Given the description of an element on the screen output the (x, y) to click on. 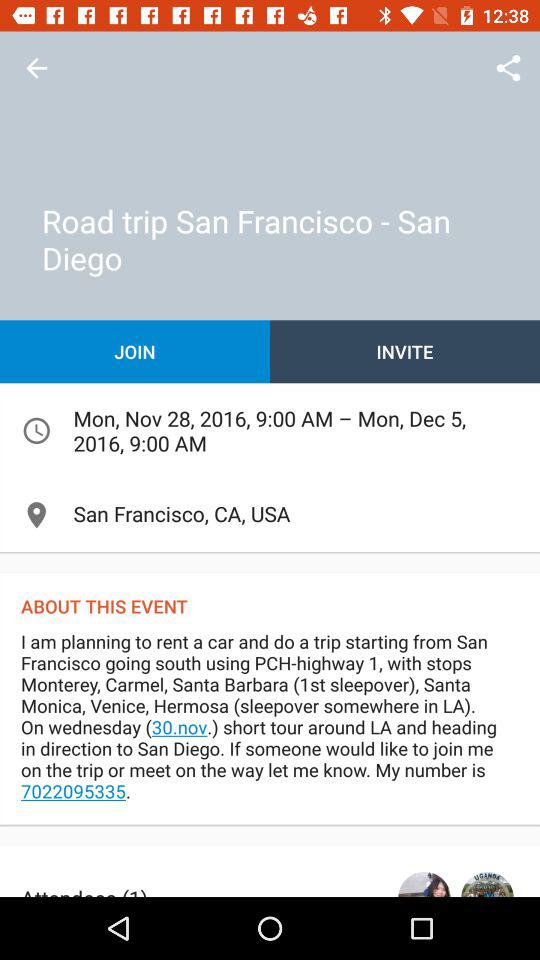
click the item on the left (135, 351)
